Given the description of an element on the screen output the (x, y) to click on. 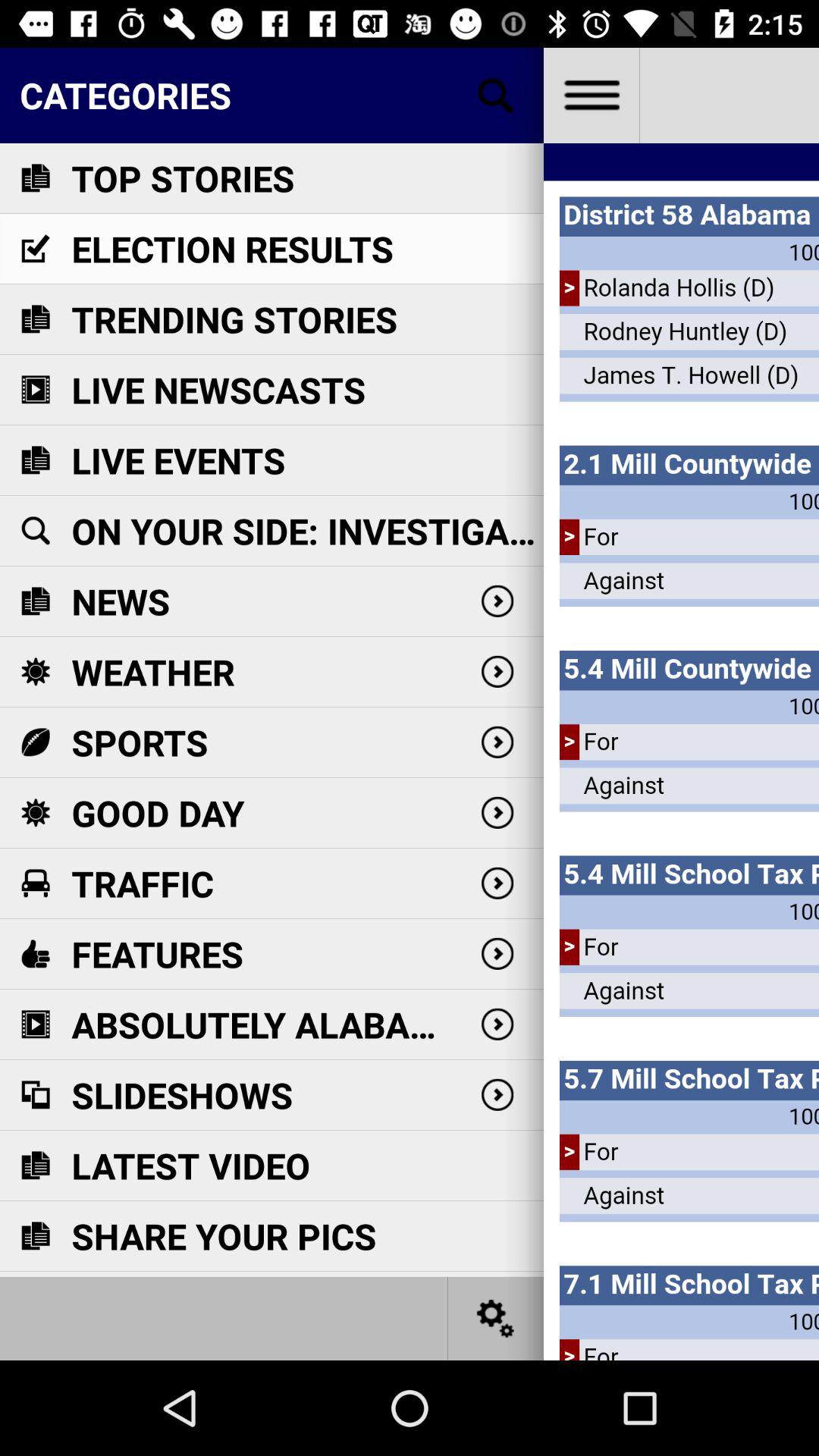
go settings (591, 95)
